Given the description of an element on the screen output the (x, y) to click on. 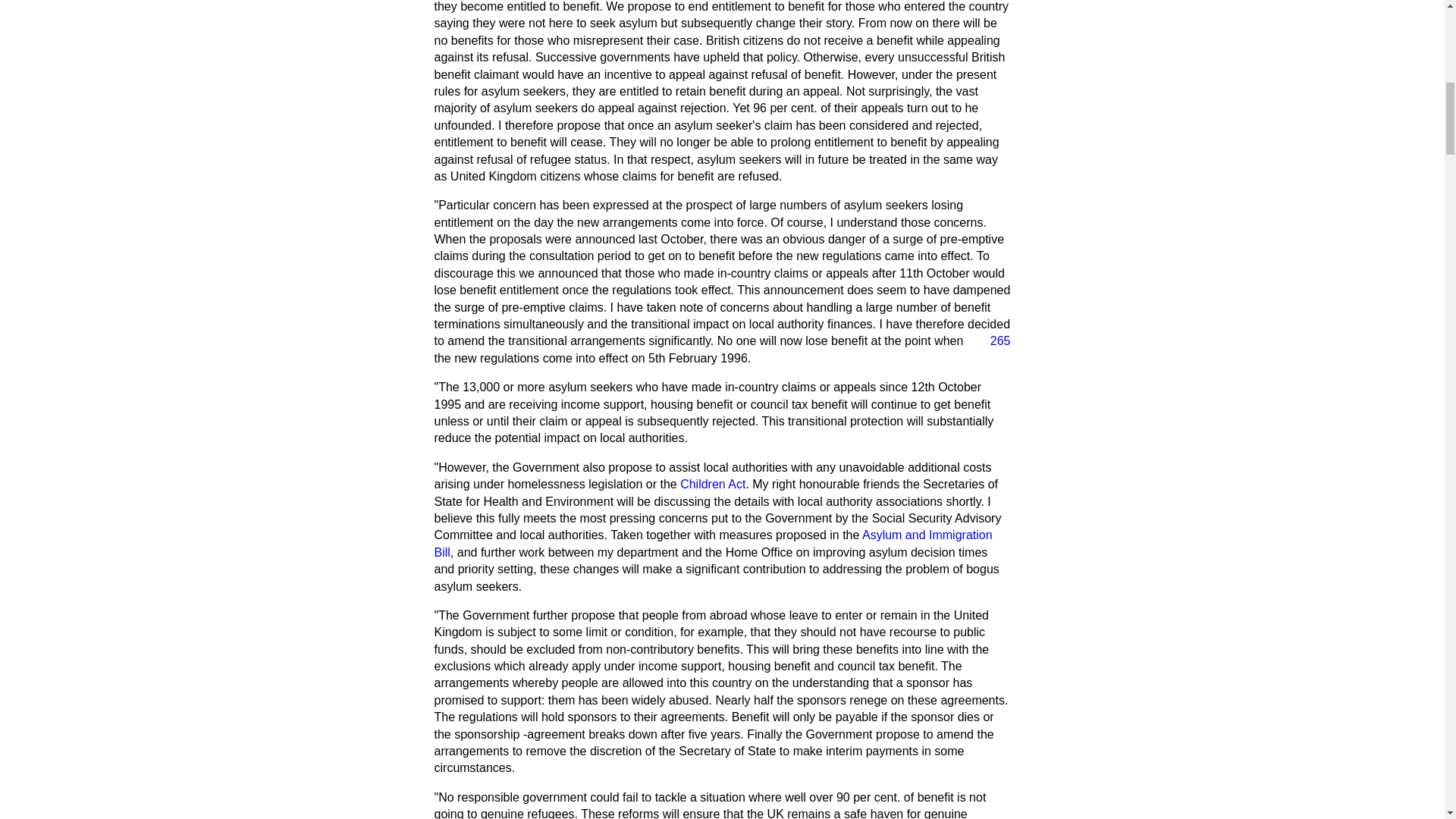
Children Act (712, 483)
Asylum and Immigration Bill (712, 542)
265 (994, 340)
